Given the description of an element on the screen output the (x, y) to click on. 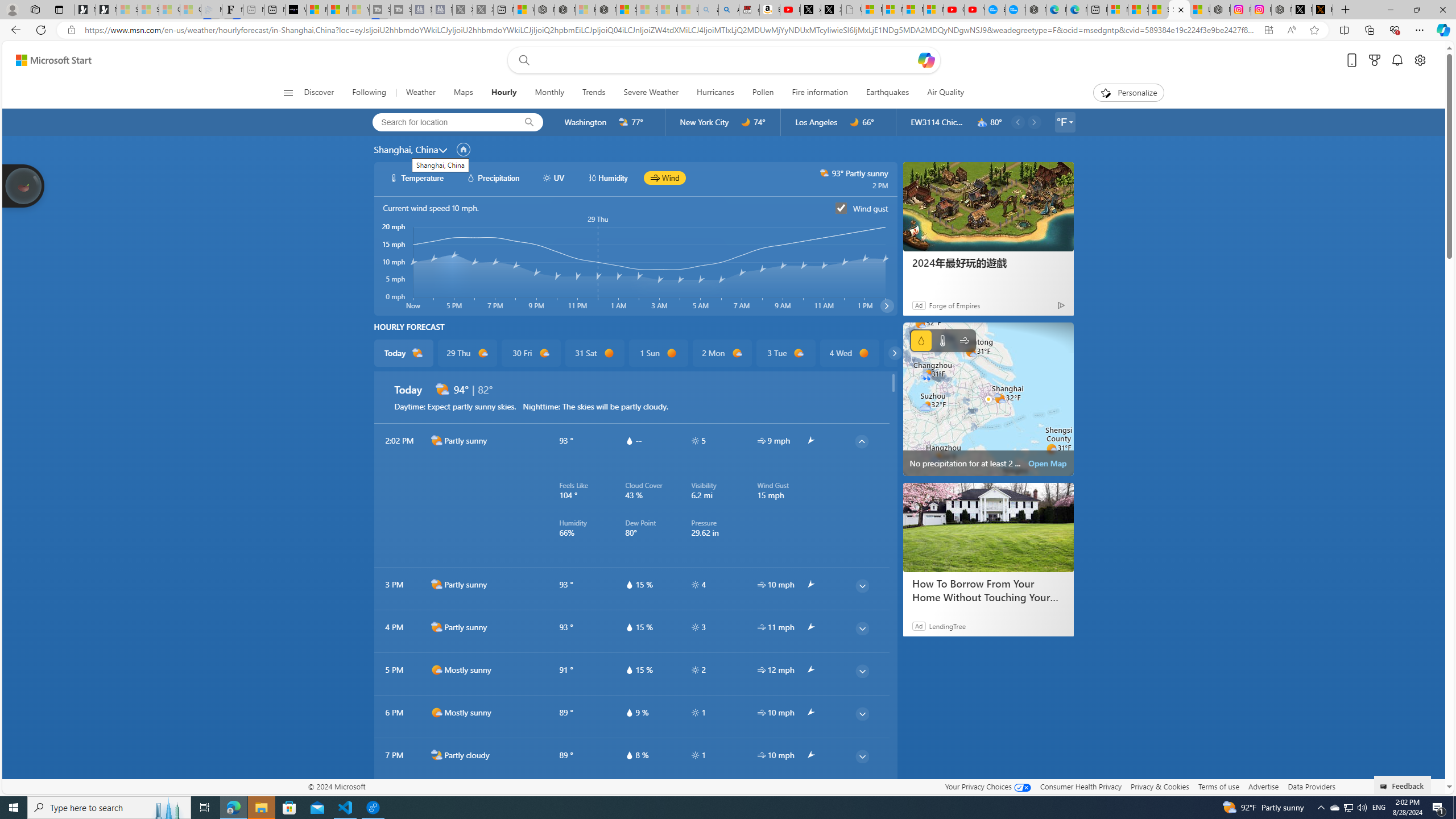
n2000 (436, 797)
Terms of use (1218, 786)
hourlyTable/uv (694, 755)
Advertise (1263, 785)
3 Tue d1000 (785, 352)
Hourly (503, 92)
Earthquakes (888, 92)
